Given the description of an element on the screen output the (x, y) to click on. 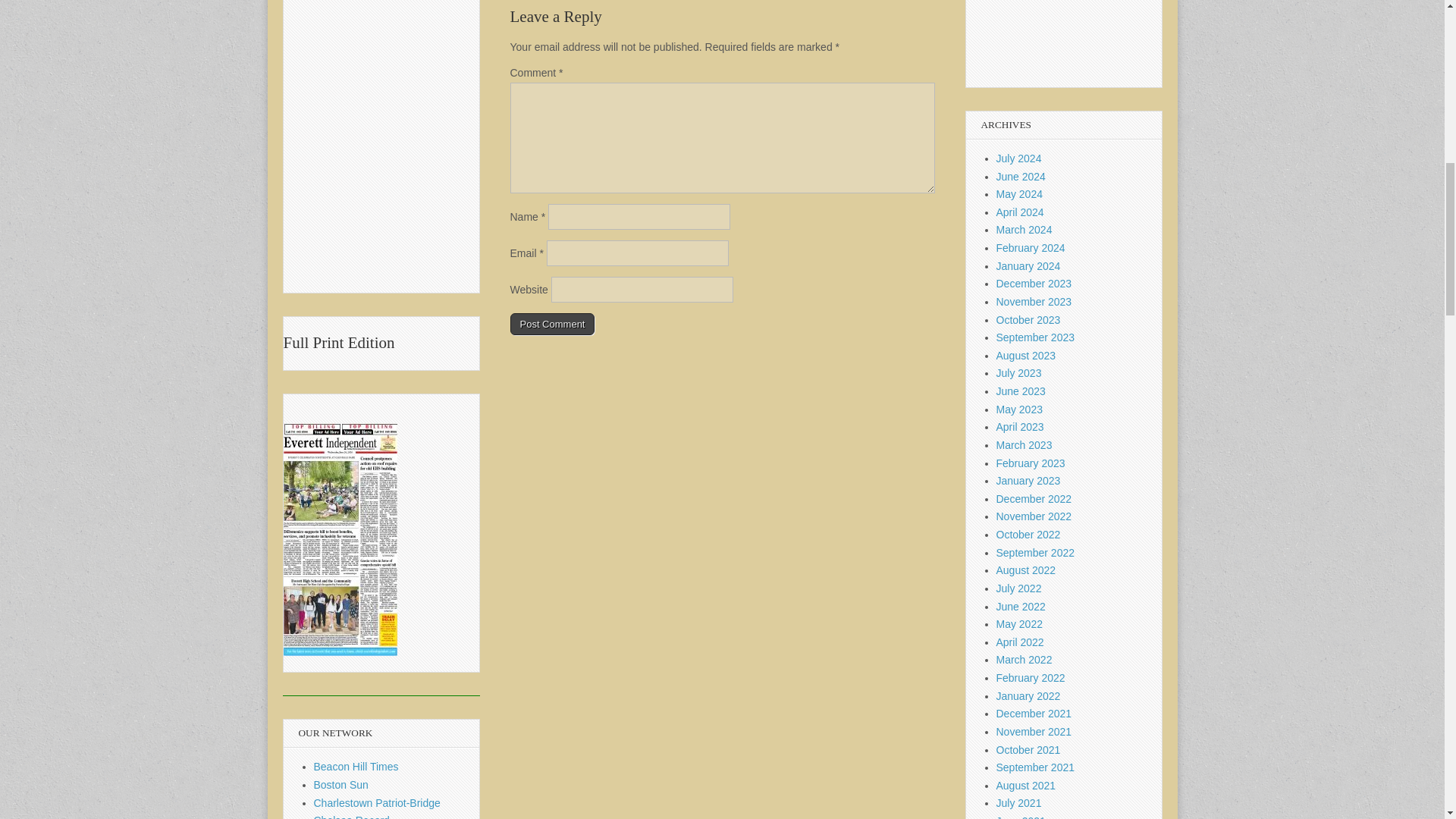
Post Comment (551, 323)
Beacon Hill Times (356, 766)
Boston Sun (341, 784)
Charlestown Patriot-Bridge (377, 802)
Chelsea Record (352, 816)
Post Comment (551, 323)
